Given the description of an element on the screen output the (x, y) to click on. 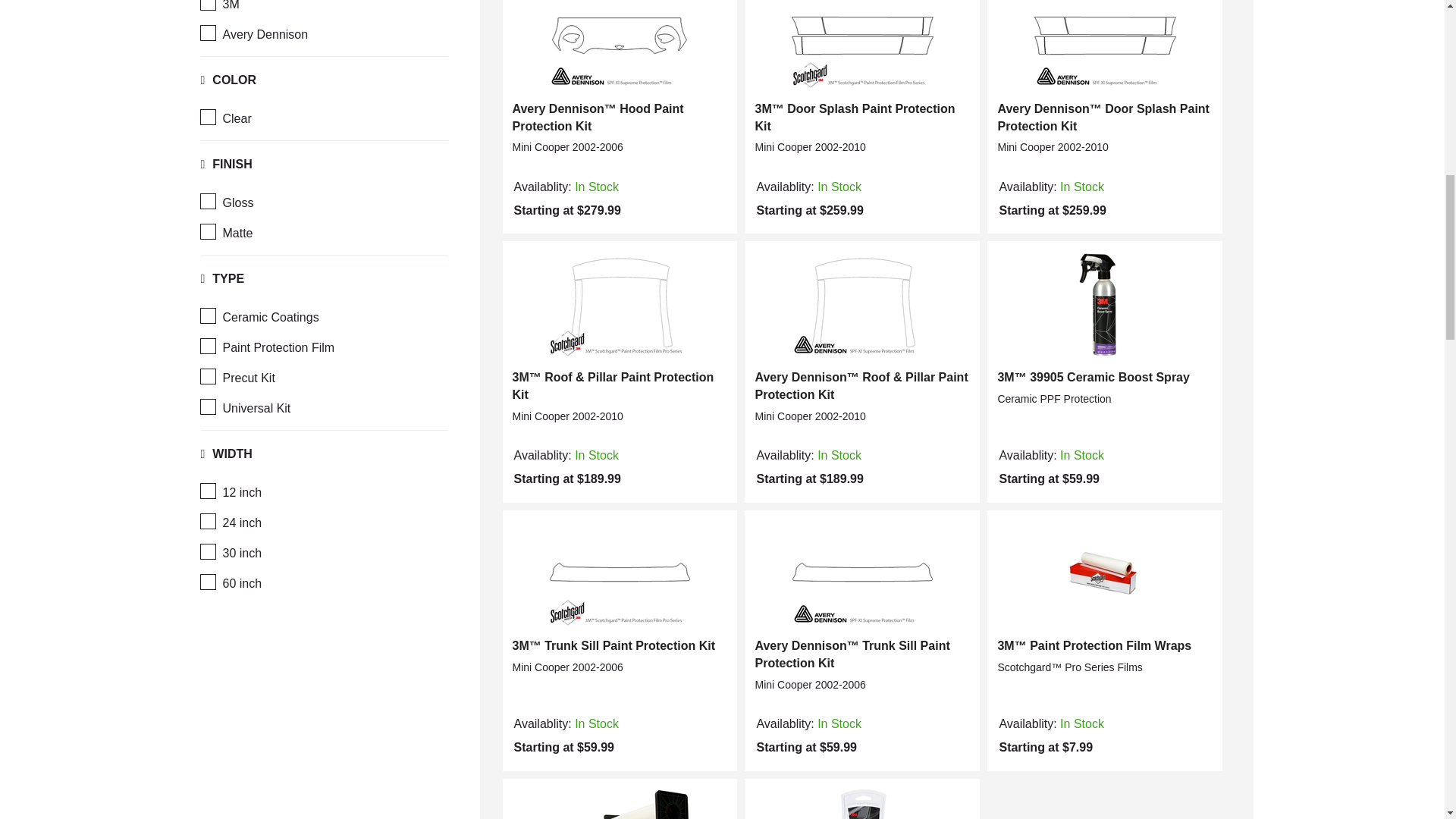
on (207, 4)
on (207, 116)
on (207, 201)
on (207, 406)
on (207, 315)
on (207, 490)
on (207, 376)
on (207, 345)
on (207, 231)
on (207, 521)
on (207, 32)
on (207, 581)
on (207, 551)
